Given the description of an element on the screen output the (x, y) to click on. 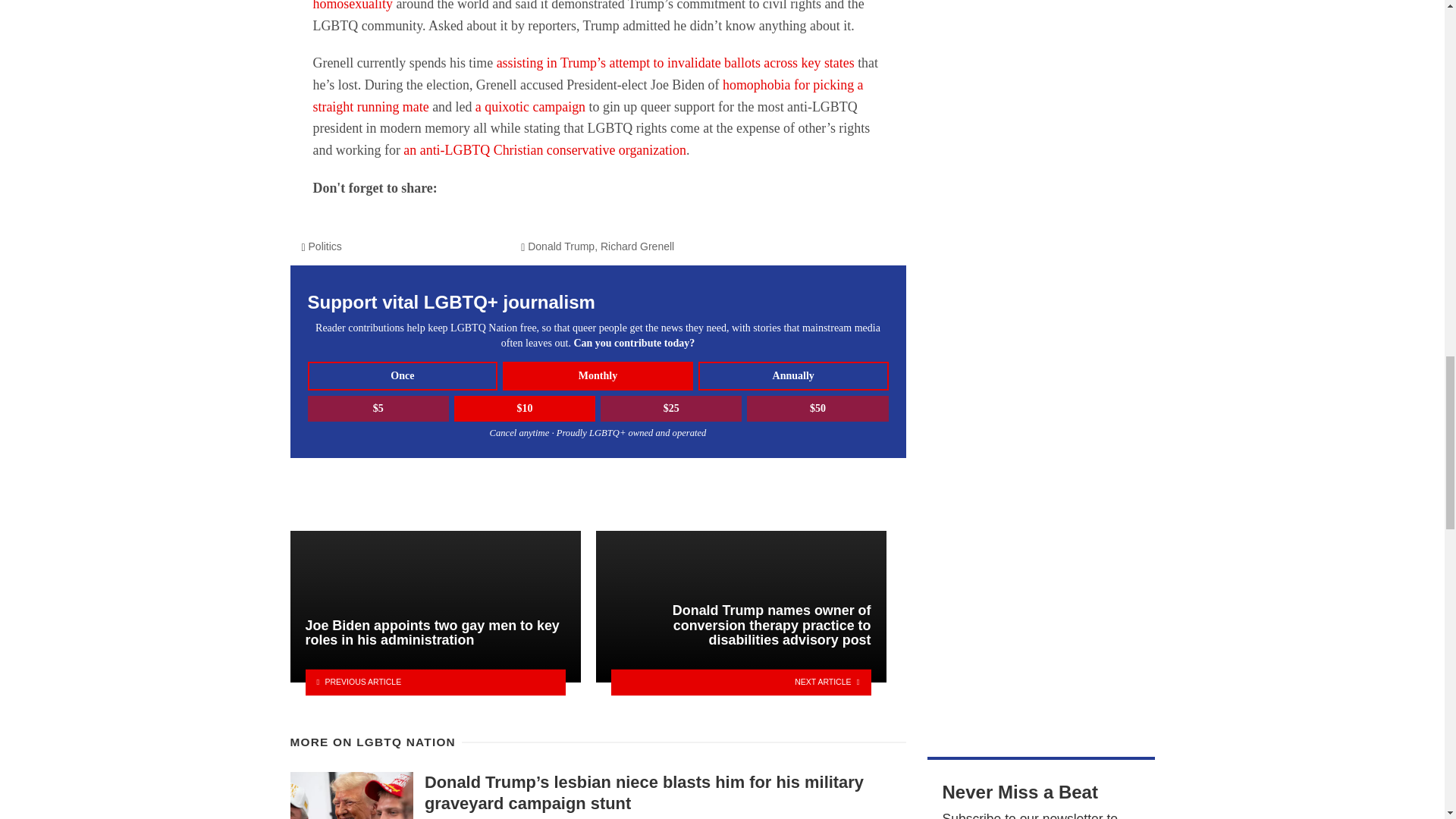
homophobia for picking a straight running mate (588, 95)
an anti-LGBTQ Christian conservative organization (544, 150)
a new federal initiative to decriminalize homosexuality (541, 5)
a quixotic campaign (530, 106)
